Given the description of an element on the screen output the (x, y) to click on. 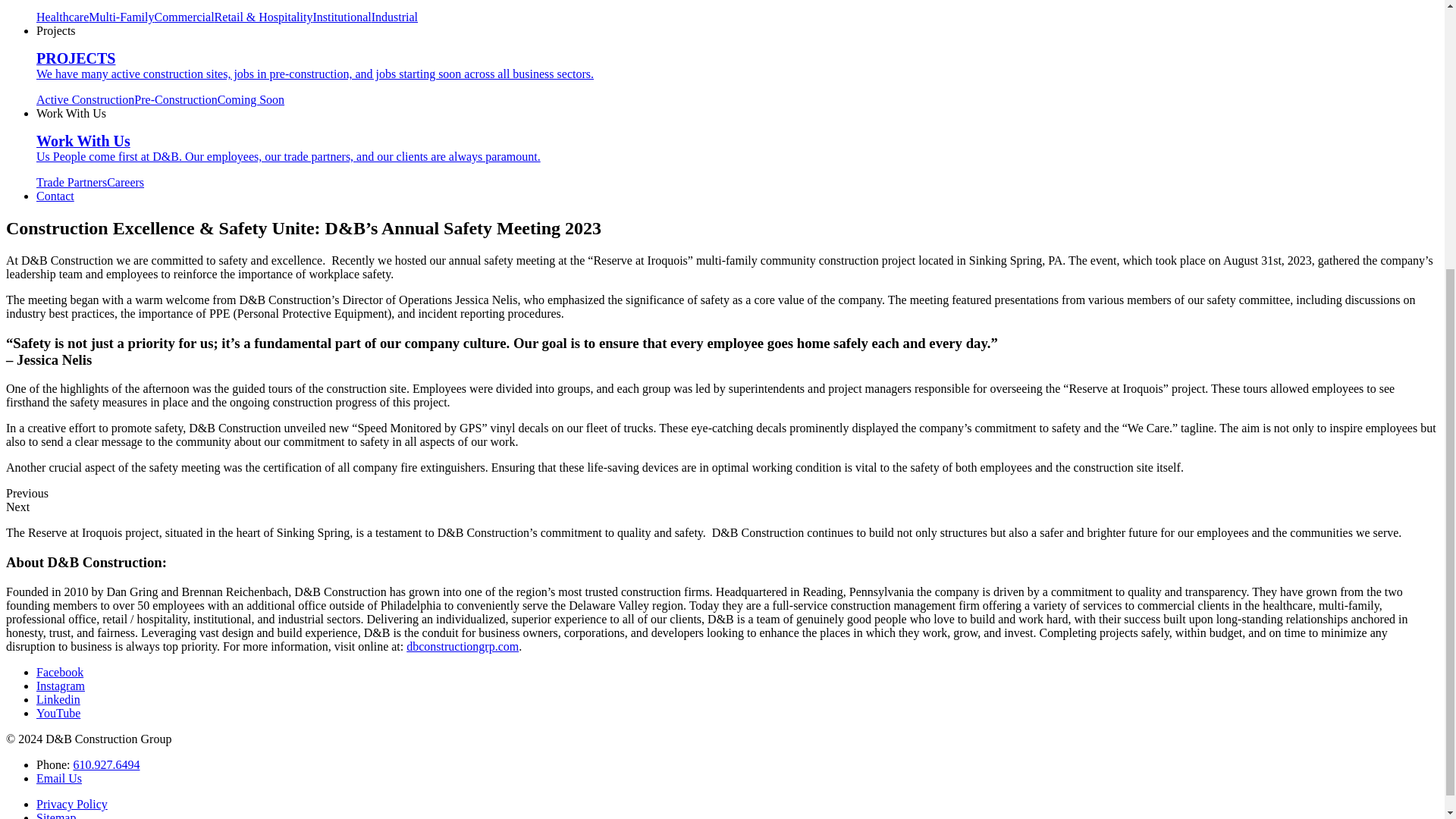
Multi-Family (121, 16)
Projects (55, 30)
Healthcare (62, 16)
Institutional (342, 16)
Industrial (394, 16)
Email Email Us (58, 778)
Commercial (184, 16)
